Given the description of an element on the screen output the (x, y) to click on. 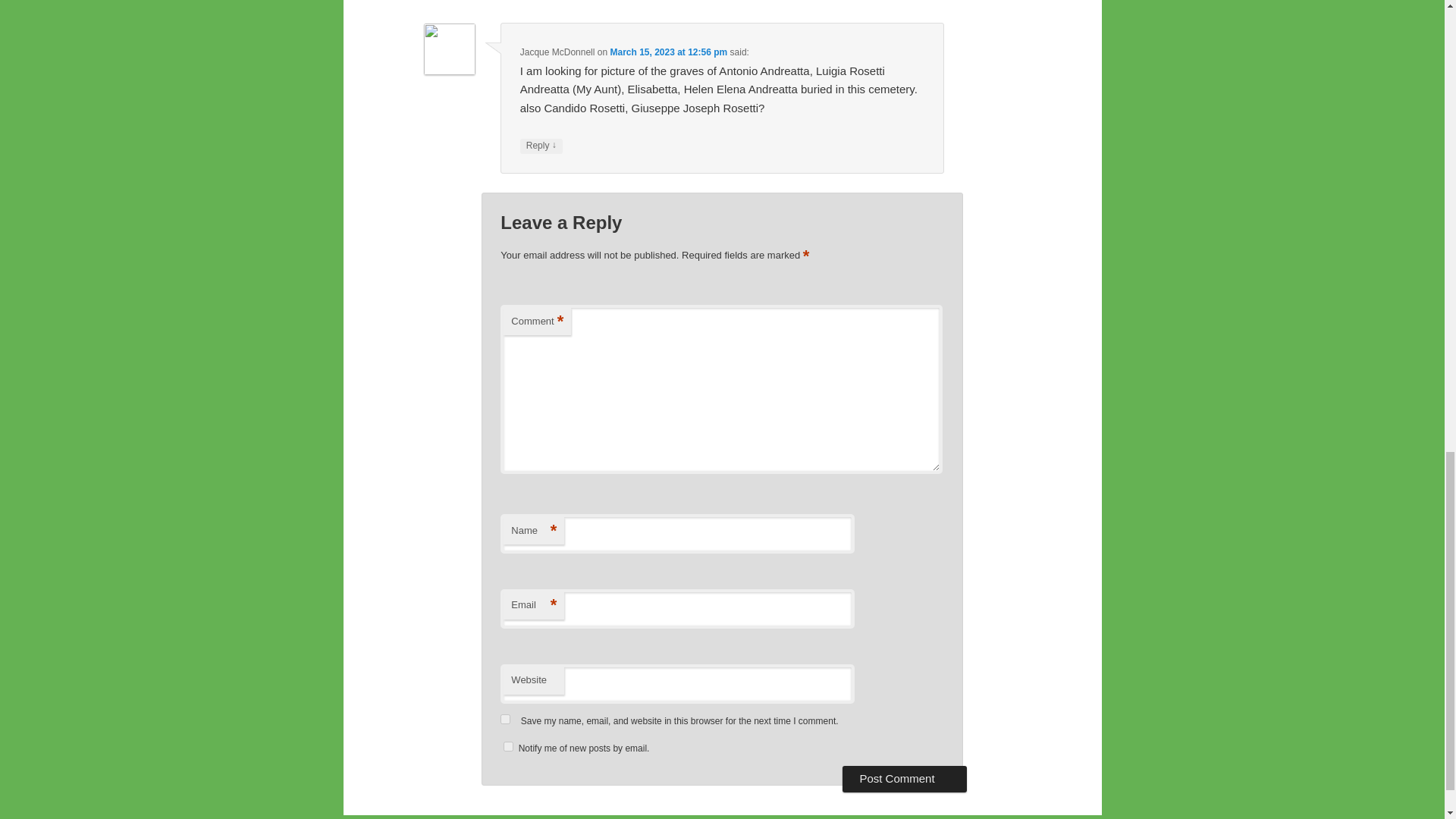
yes (505, 718)
March 15, 2023 at 12:56 pm (668, 51)
Post Comment (904, 778)
subscribe (508, 746)
Post Comment (904, 778)
